Given the description of an element on the screen output the (x, y) to click on. 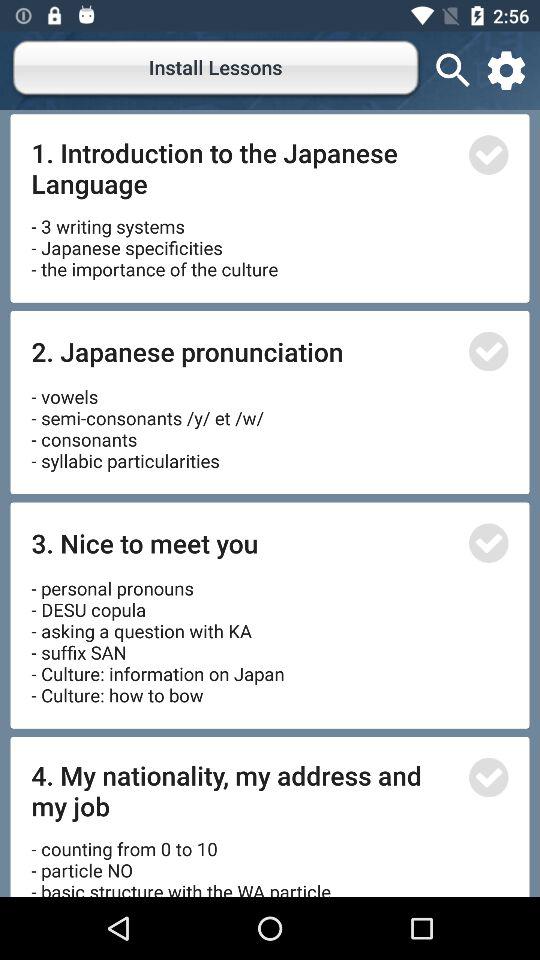
go to install (488, 154)
